Given the description of an element on the screen output the (x, y) to click on. 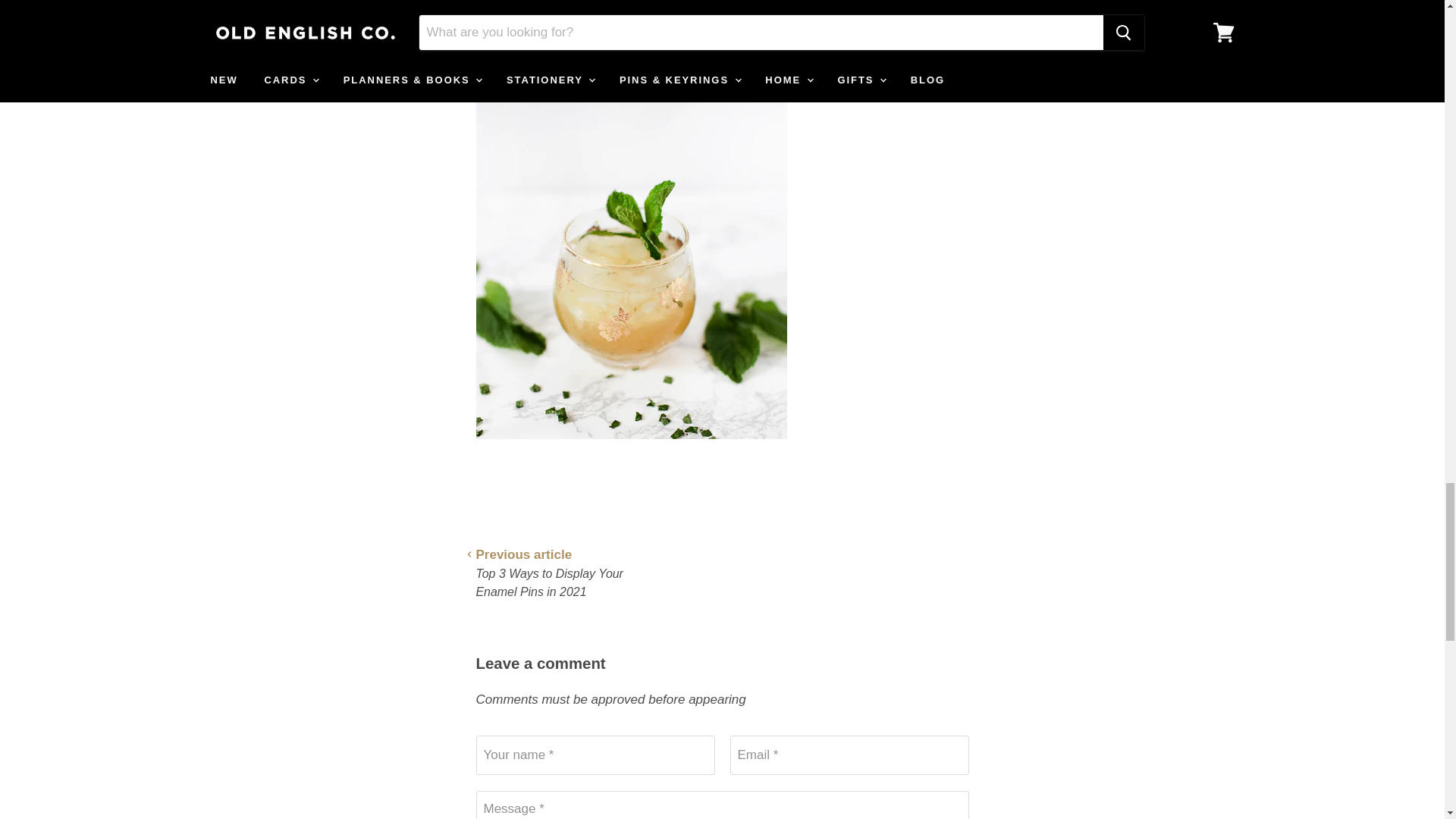
whiskey smash recipe (561, 17)
whiskey smash cocktail (631, 447)
